Given the description of an element on the screen output the (x, y) to click on. 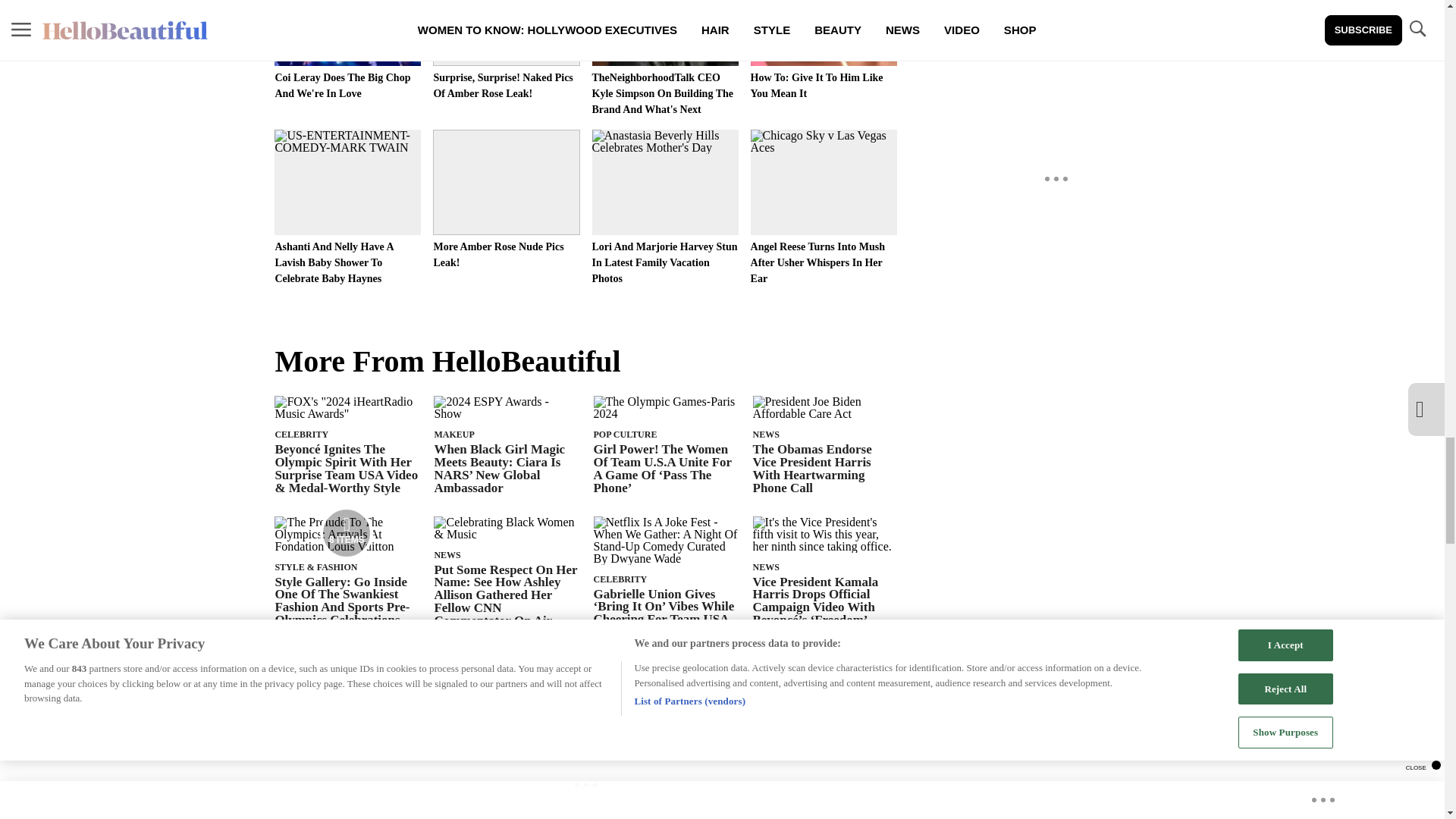
Media Playlist (346, 532)
How To: Give It To Him Like You Mean It (823, 50)
Coi Leray Does The Big Chop And We're In Love (347, 50)
Surprise, Surprise! Naked Pics Of Amber Rose Leak! (505, 50)
More Amber Rose Nude Pics Leak! (505, 199)
